Given the description of an element on the screen output the (x, y) to click on. 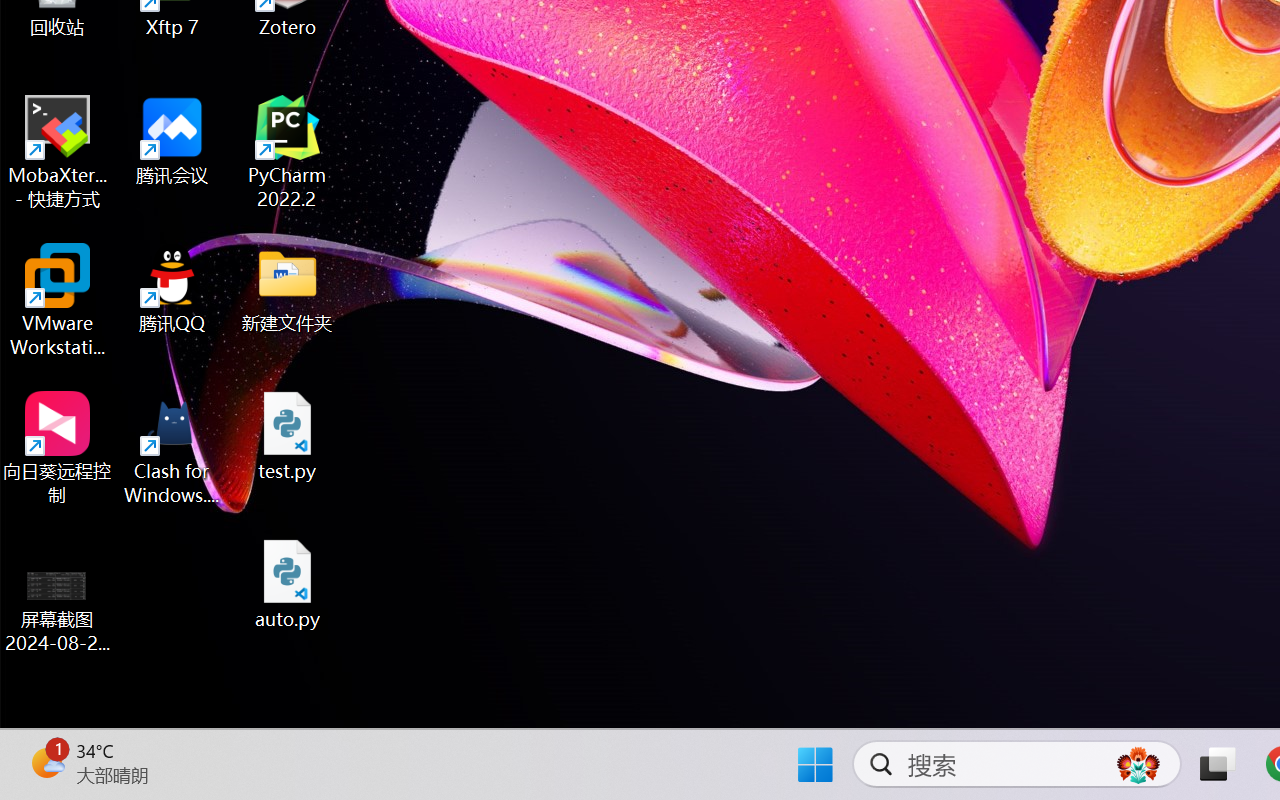
test.py (287, 436)
PyCharm 2022.2 (287, 152)
VMware Workstation Pro (57, 300)
auto.py (287, 584)
